Given the description of an element on the screen output the (x, y) to click on. 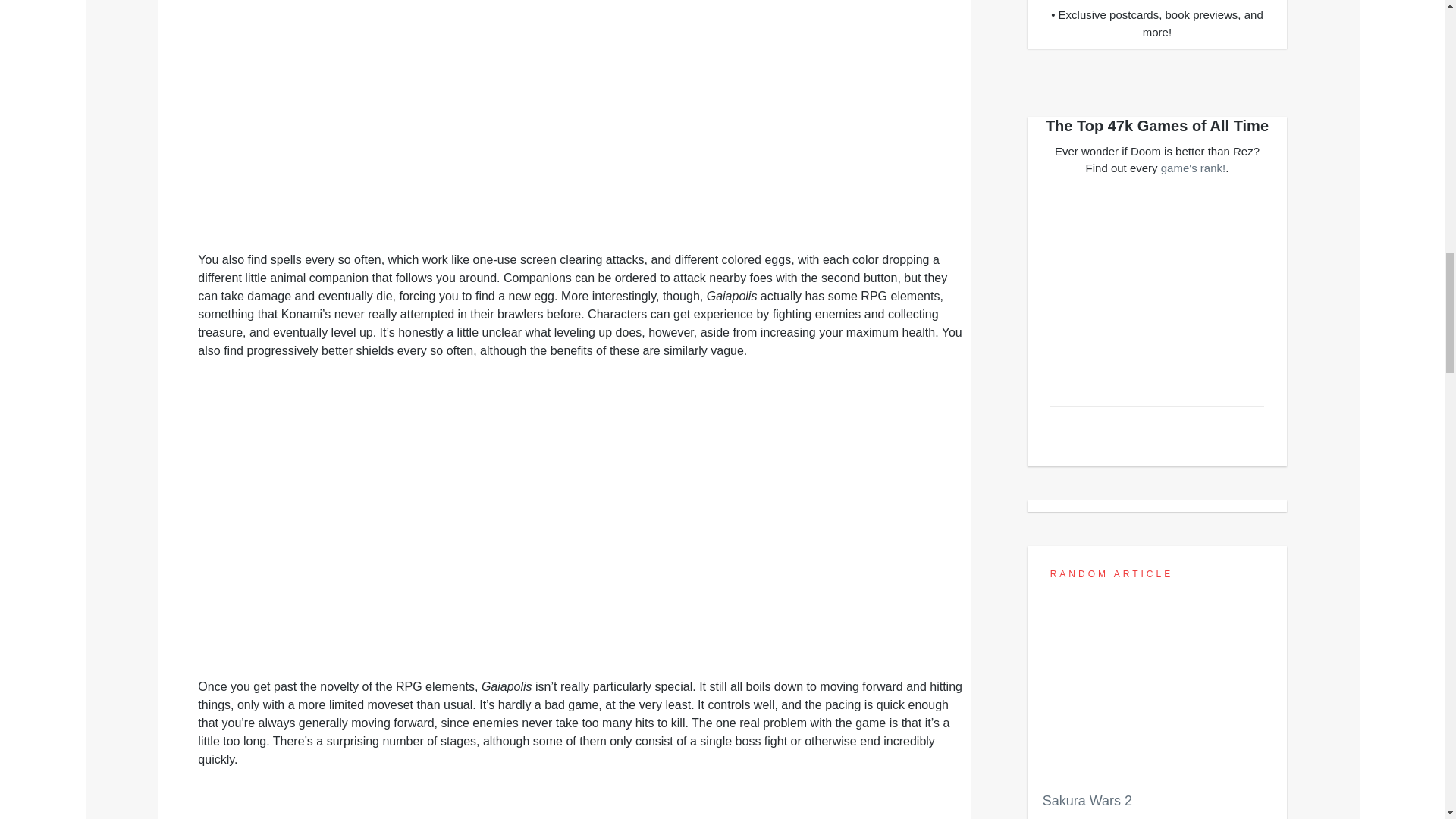
game's rank! (1192, 167)
Sakura Wars 2 (1157, 710)
